Given the description of an element on the screen output the (x, y) to click on. 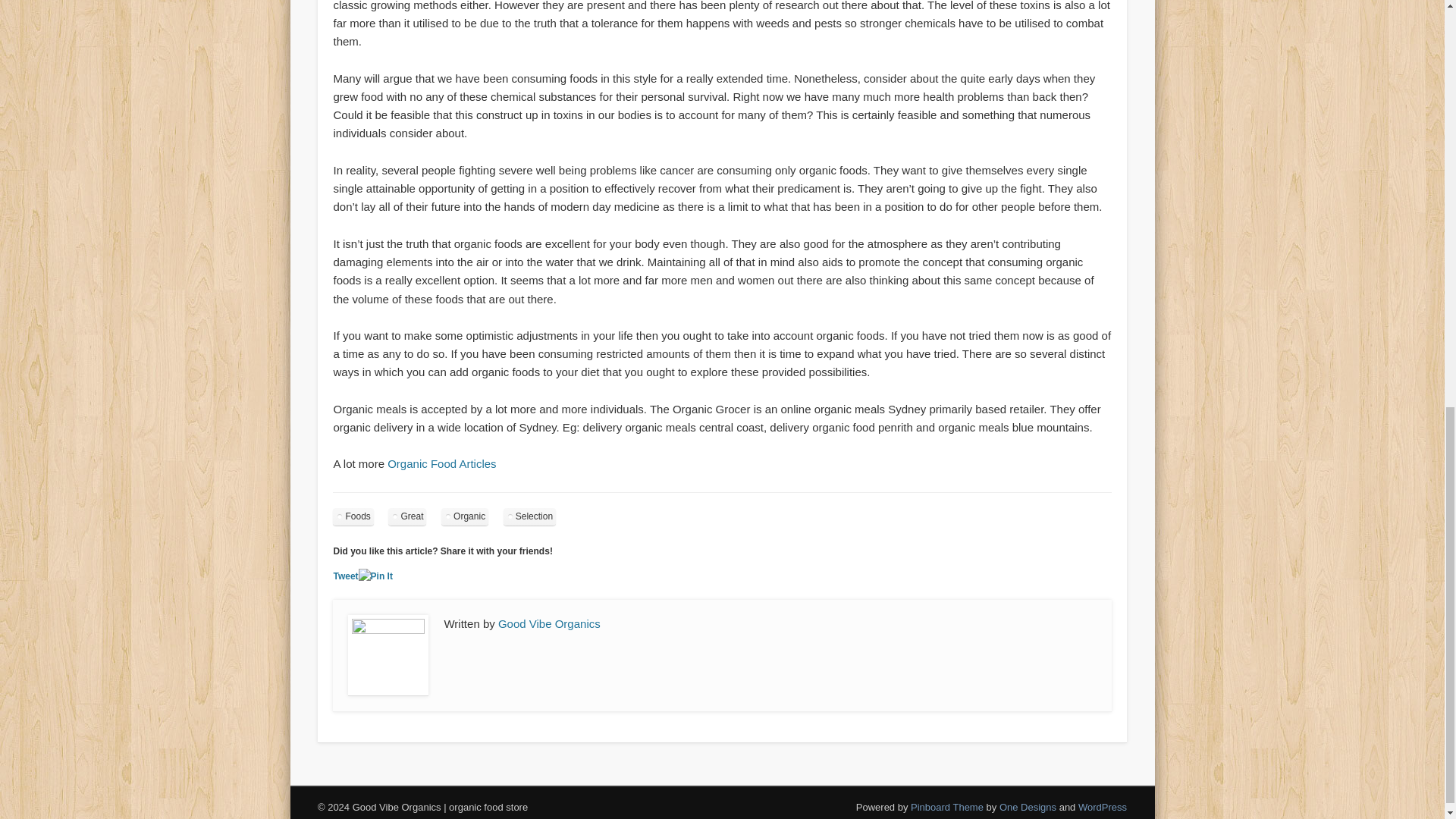
Organic (464, 516)
Pinboard Theme (947, 807)
Posts by Good Vibe Organics (548, 623)
Pin It (375, 576)
Pinboard Theme (947, 807)
WordPress (1102, 807)
One Designs (1027, 807)
Tweet (345, 575)
Foods (352, 516)
Organic Food Articles (441, 463)
